Given the description of an element on the screen output the (x, y) to click on. 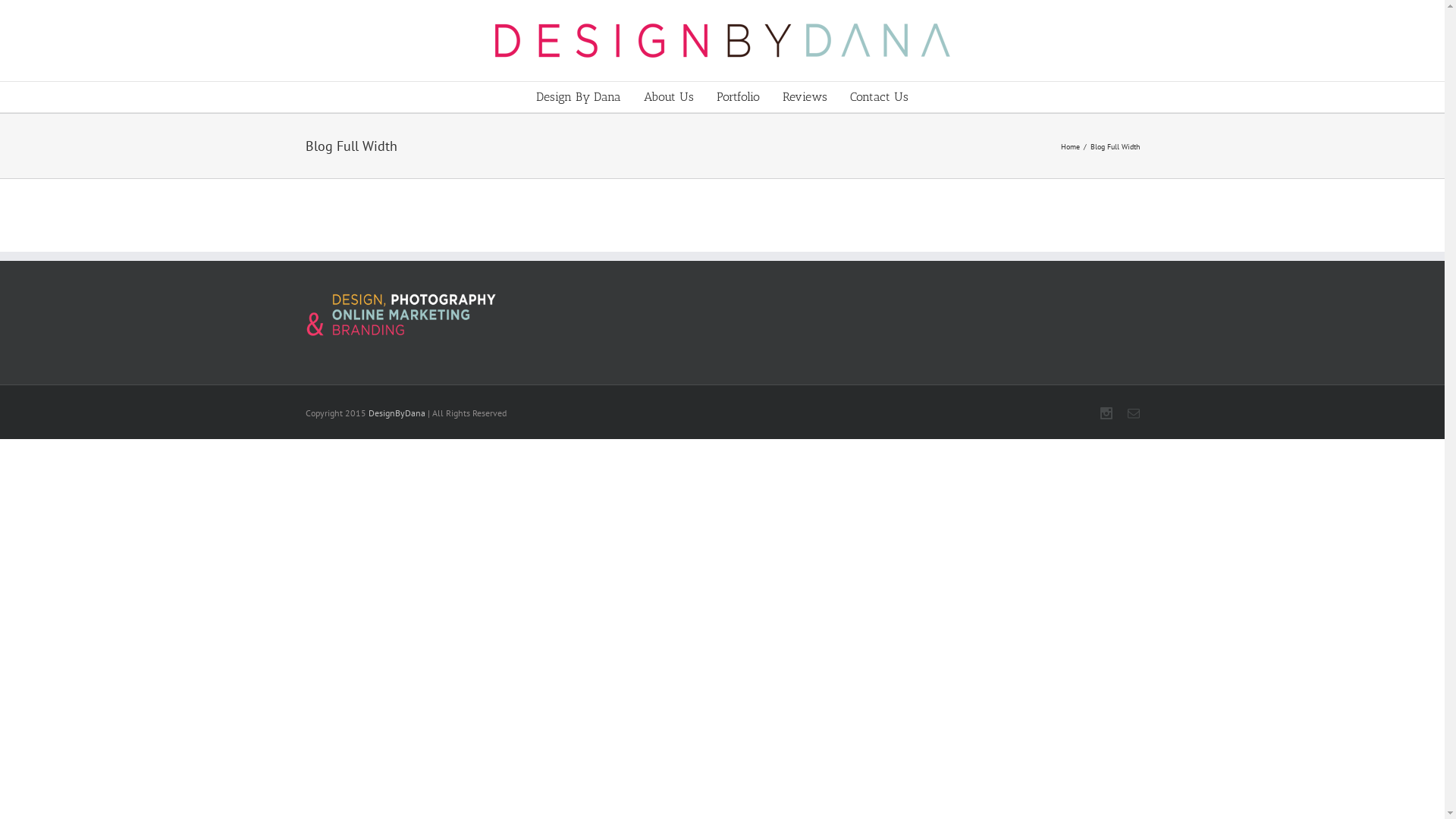
Mail Element type: hover (1132, 413)
Design By Dana Element type: text (578, 96)
About Us Element type: text (668, 96)
DesignByDana Element type: text (396, 412)
Instagram Element type: hover (1105, 413)
Home Element type: text (1071, 145)
Portfolio Element type: text (737, 96)
Contact Us Element type: text (879, 96)
Reviews Element type: text (804, 96)
